Given the description of an element on the screen output the (x, y) to click on. 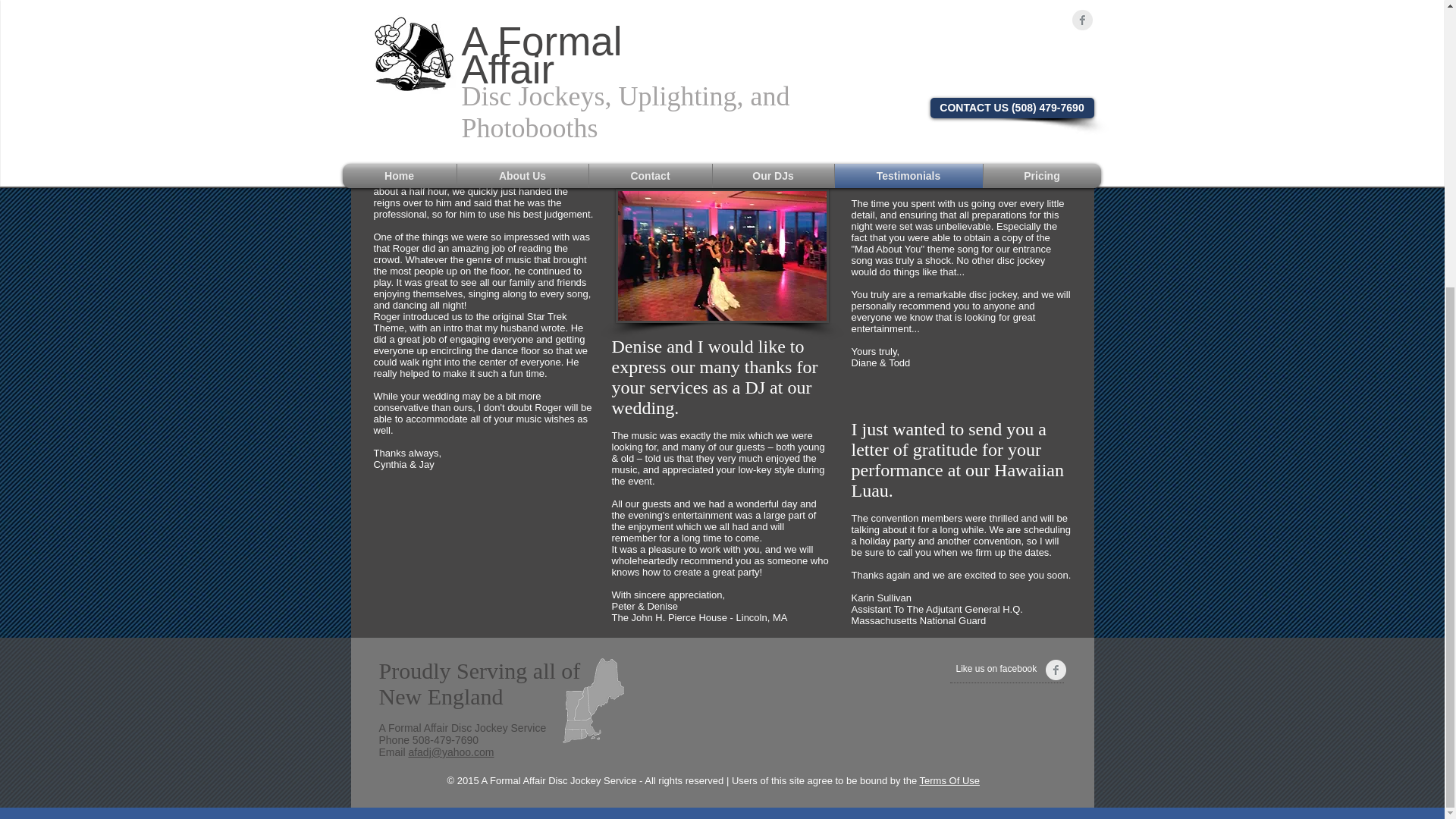
Like us on facebook (1022, 669)
Terms Of Use (949, 780)
index02.jpg (721, 255)
